Given the description of an element on the screen output the (x, y) to click on. 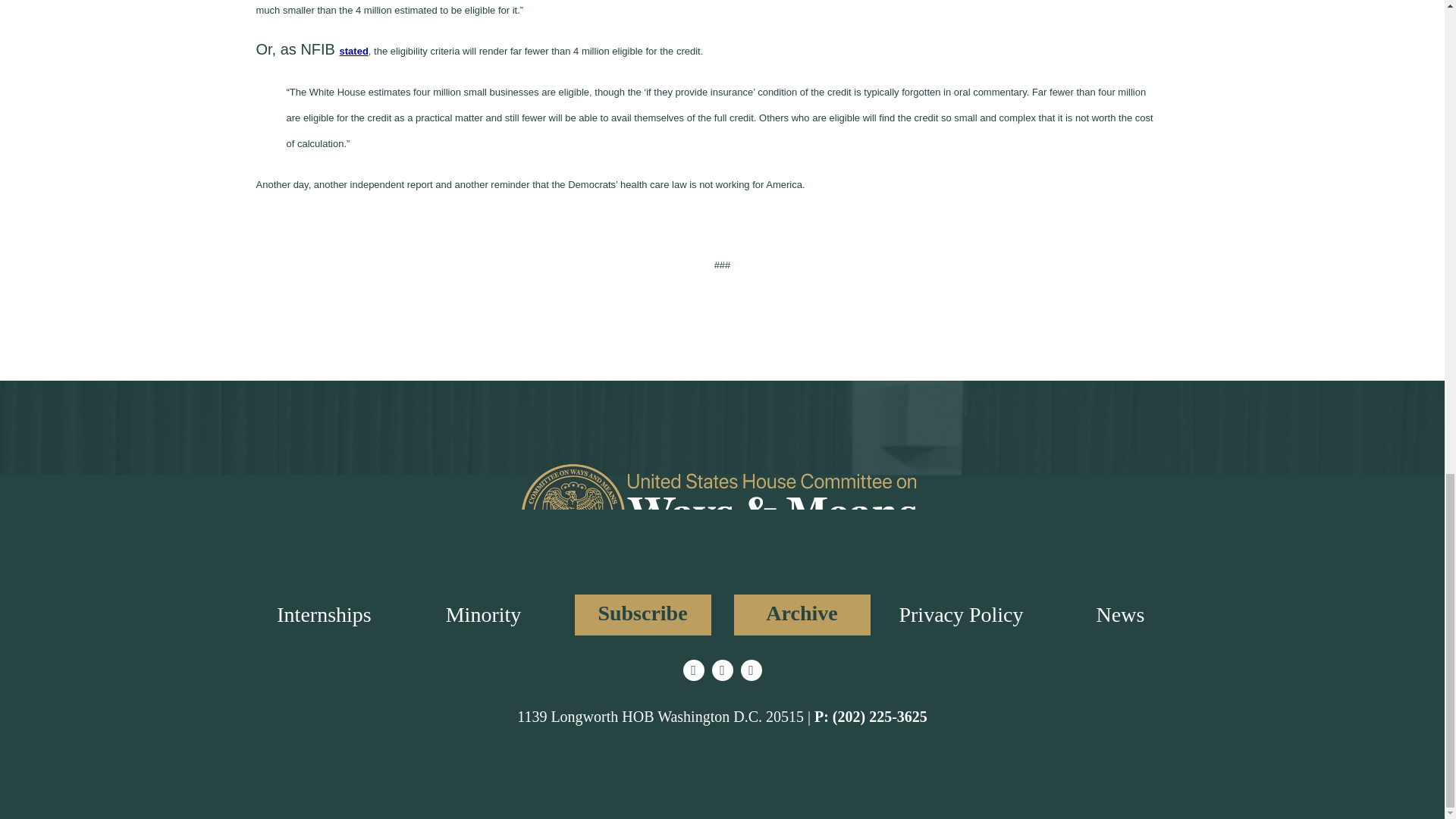
Twitter (692, 670)
News (1120, 614)
Minority (483, 614)
Privacy Policy (960, 614)
stated (353, 50)
Internships (323, 614)
Subscribe (643, 614)
Instagram (721, 670)
Youtube (750, 670)
Archive (801, 614)
